Given the description of an element on the screen output the (x, y) to click on. 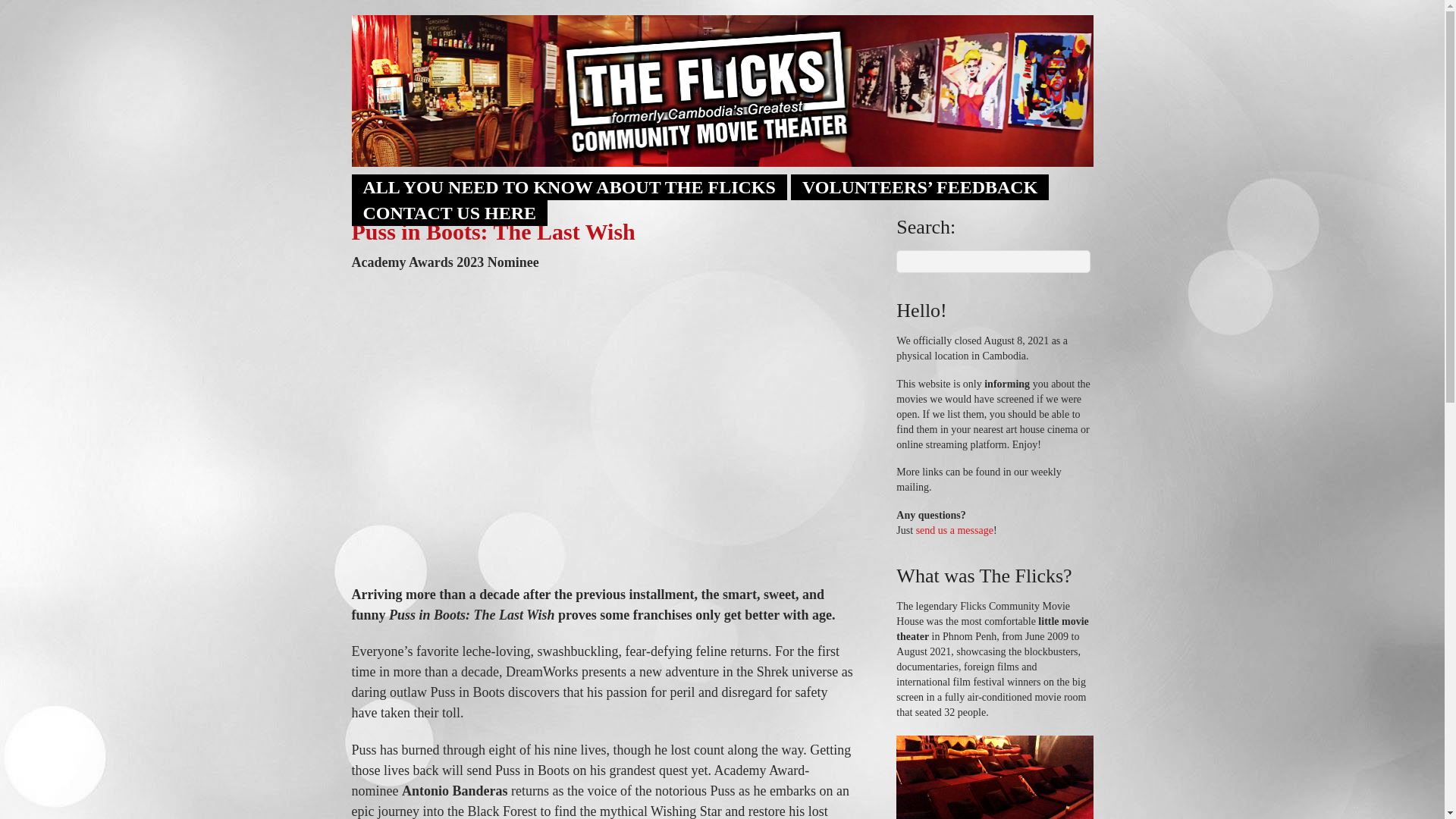
CONTACT US HERE (450, 212)
Search (992, 261)
Puss in Boots: The Last Wish (493, 231)
ALL YOU NEED TO KNOW ABOUT THE FLICKS (569, 186)
The Flicks - Cambodia's Most Loved Movie Theater (722, 157)
The Flicks - Cambodia's Most Loved Movie Theater (722, 91)
send us a message (953, 530)
